Given the description of an element on the screen output the (x, y) to click on. 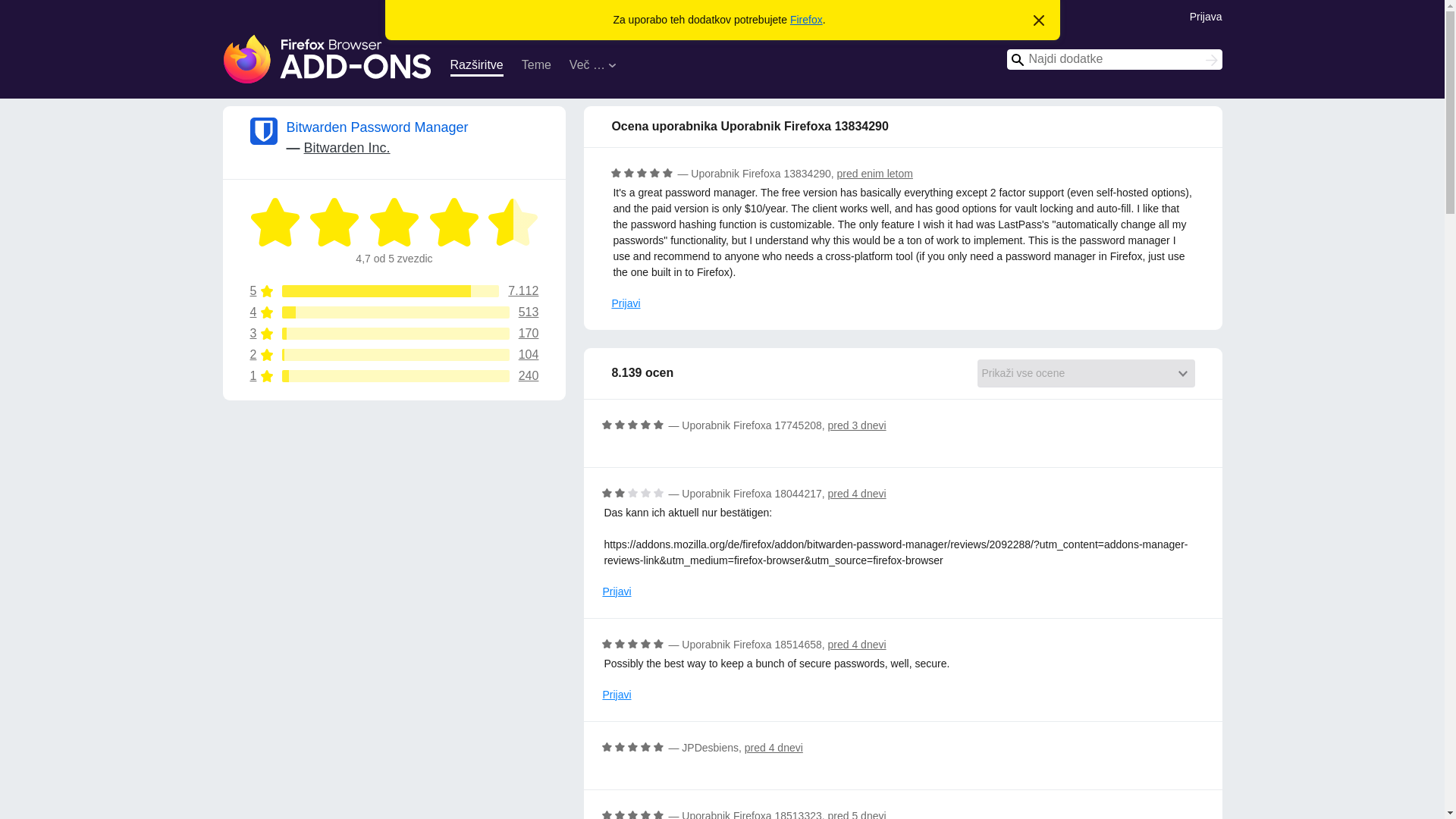
Ocenjeno z 5 od 5 (641, 172)
Ocenjeno z 4,7 od 5 (394, 354)
Prijavi (394, 222)
pred enim letom (625, 303)
7. jun. 2023 1:16 (874, 173)
Firefox (874, 173)
Dodatki za brskalnik Firefox (806, 19)
Ocenjeno z 4,7 od 5 (327, 59)
pred 4 dnevi (453, 222)
Bitwarden Password Manager (857, 644)
Prijava (377, 127)
Preberi vseh 170 ocen s tremi zvezdicami (1206, 14)
Ocenjeno z 4,7 od 5 (394, 333)
Bitwarden Inc. (394, 222)
